Given the description of an element on the screen output the (x, y) to click on. 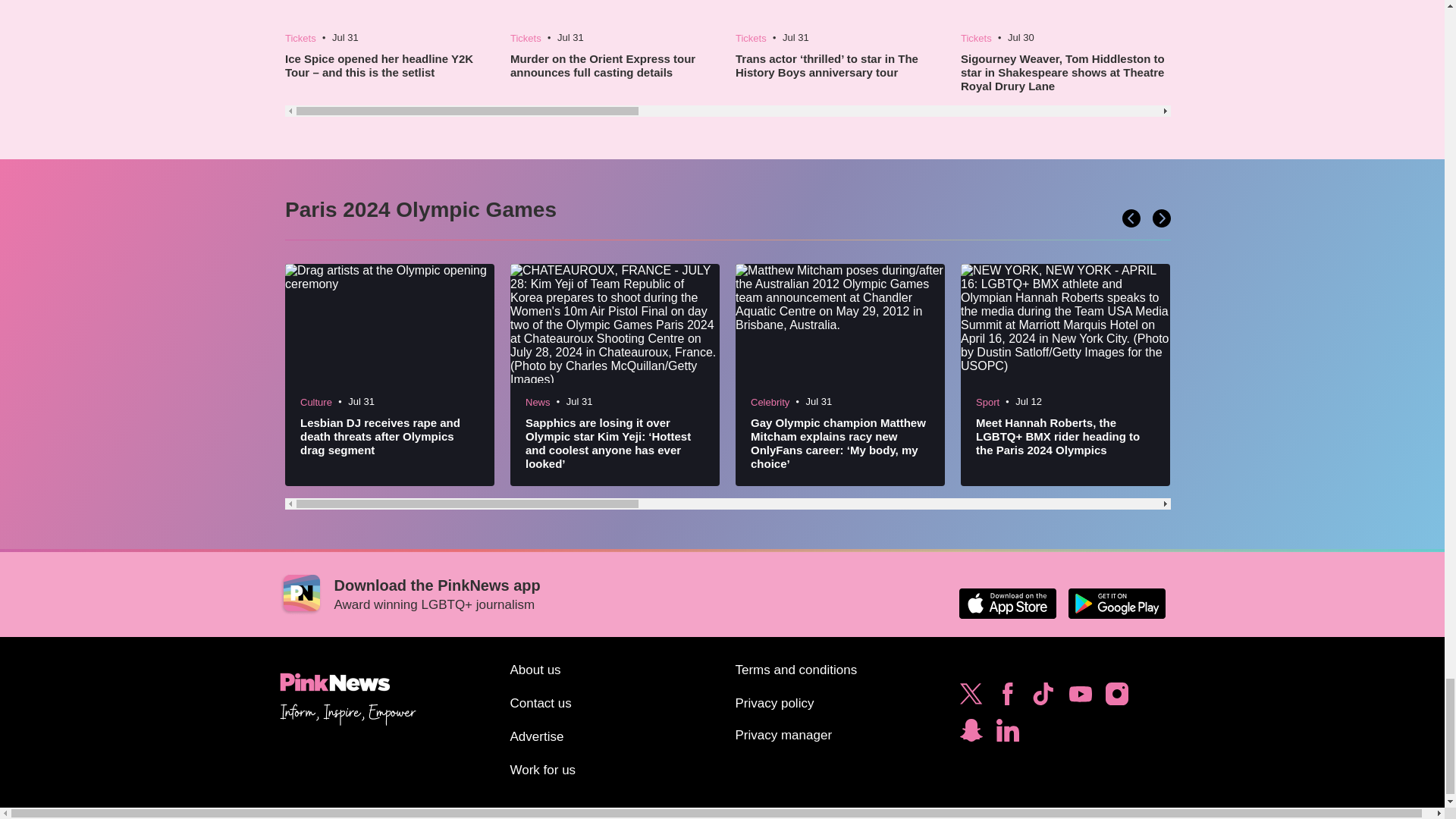
Subscribe to PinkNews on YouTube (1079, 697)
Follow PinkNews on Twitter (970, 697)
Subscribe to PinkNews on Snapchat (970, 733)
Follow PinkNews on TikTok (1042, 697)
Follow PinkNews on LinkedIn (1007, 733)
Download the PinkNews app on Google Play (1115, 603)
Download the PinkNews app on the Apple App Store (1006, 603)
Follow PinkNews on Instagram (1116, 697)
